Given the description of an element on the screen output the (x, y) to click on. 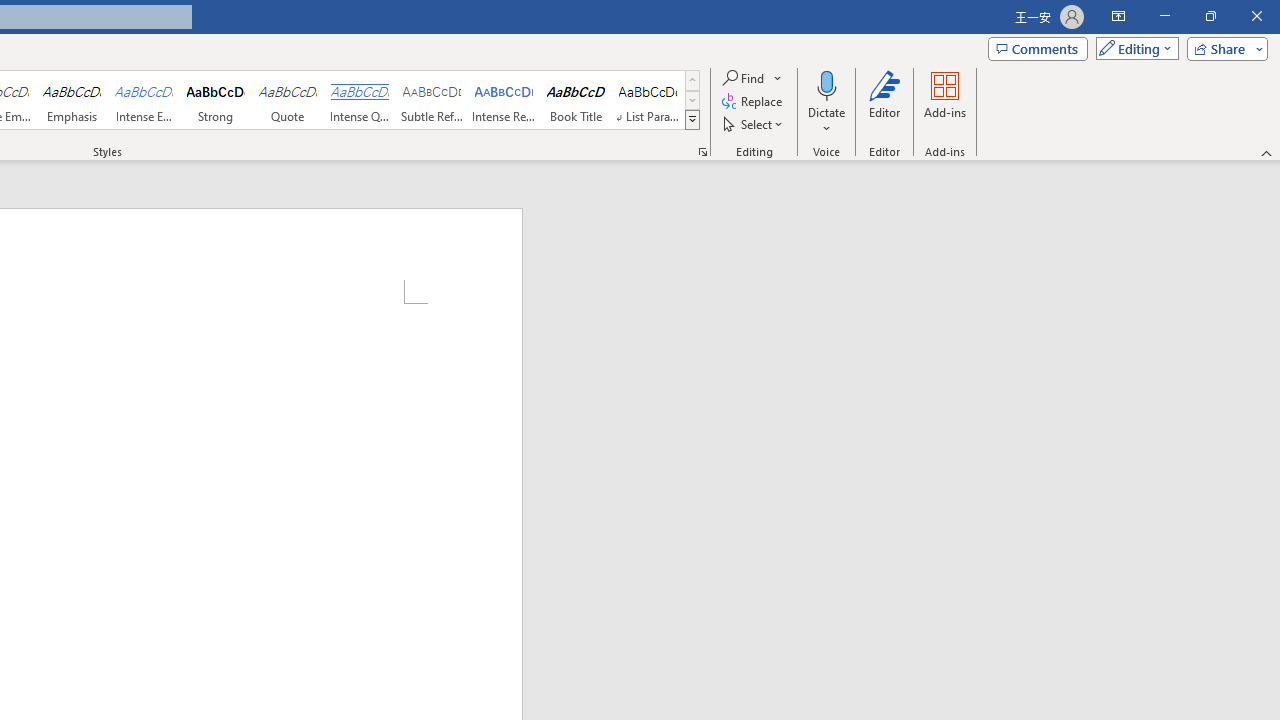
Intense Emphasis (143, 100)
Select (754, 124)
Styles... (702, 151)
Dictate (826, 84)
Comments (1038, 48)
Ribbon Display Options (1118, 16)
Find (753, 78)
Emphasis (71, 100)
Class: NetUIImage (692, 119)
Find (744, 78)
Styles (692, 120)
Replace... (753, 101)
Book Title (575, 100)
